Given the description of an element on the screen output the (x, y) to click on. 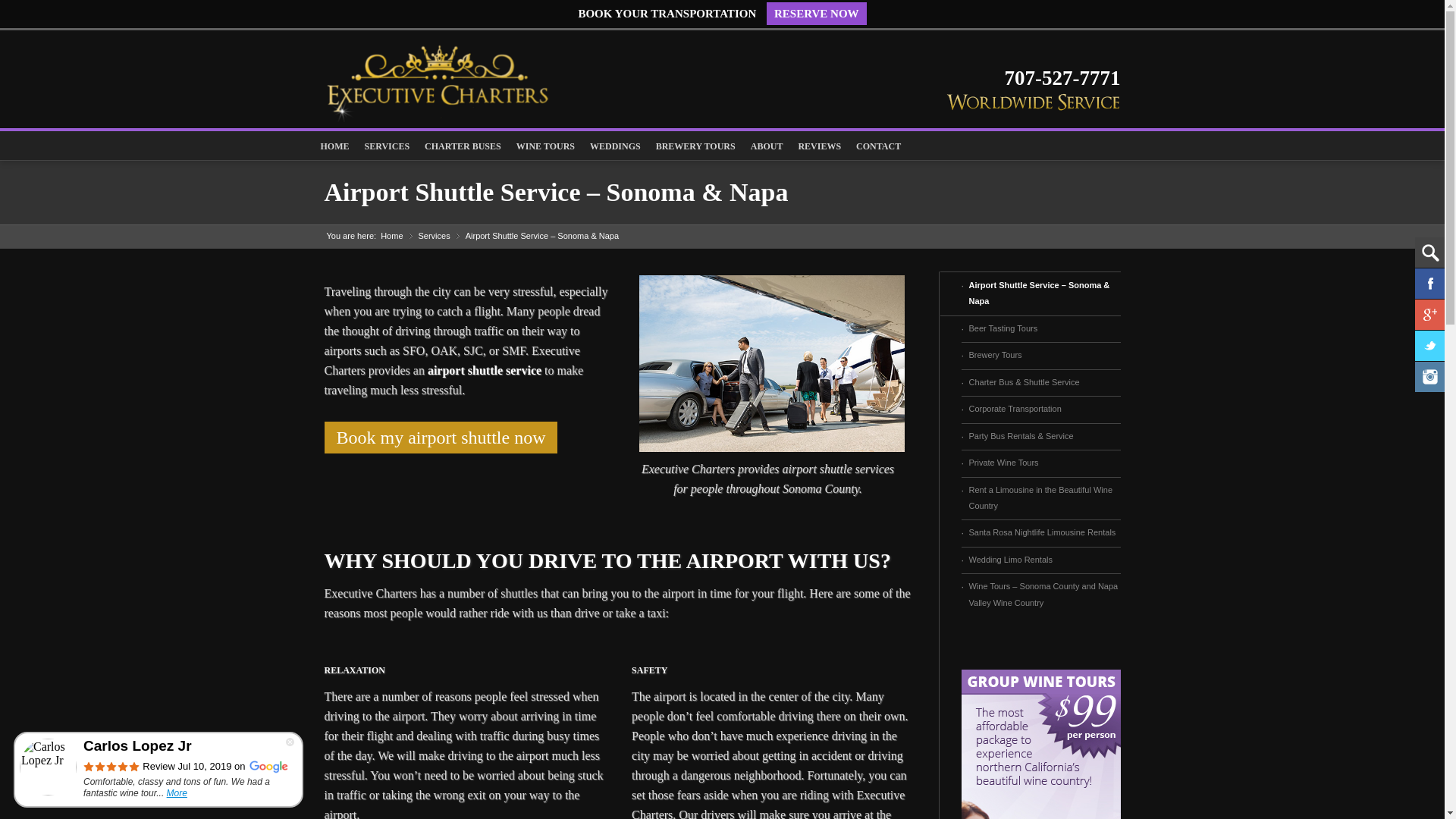
BREWERY TOURS (694, 145)
Beer Tasting Tours (1040, 328)
Home (391, 235)
WINE TOURS (545, 145)
Book my airport shuttle now (440, 437)
Services (432, 235)
CONTACT (878, 145)
CHARTER BUSES (462, 145)
ABOUT (766, 145)
WEDDINGS (614, 145)
SERVICES (386, 145)
Brewery Tours (1040, 355)
HOME (334, 145)
RESERVE NOW (816, 13)
Services (432, 235)
